Given the description of an element on the screen output the (x, y) to click on. 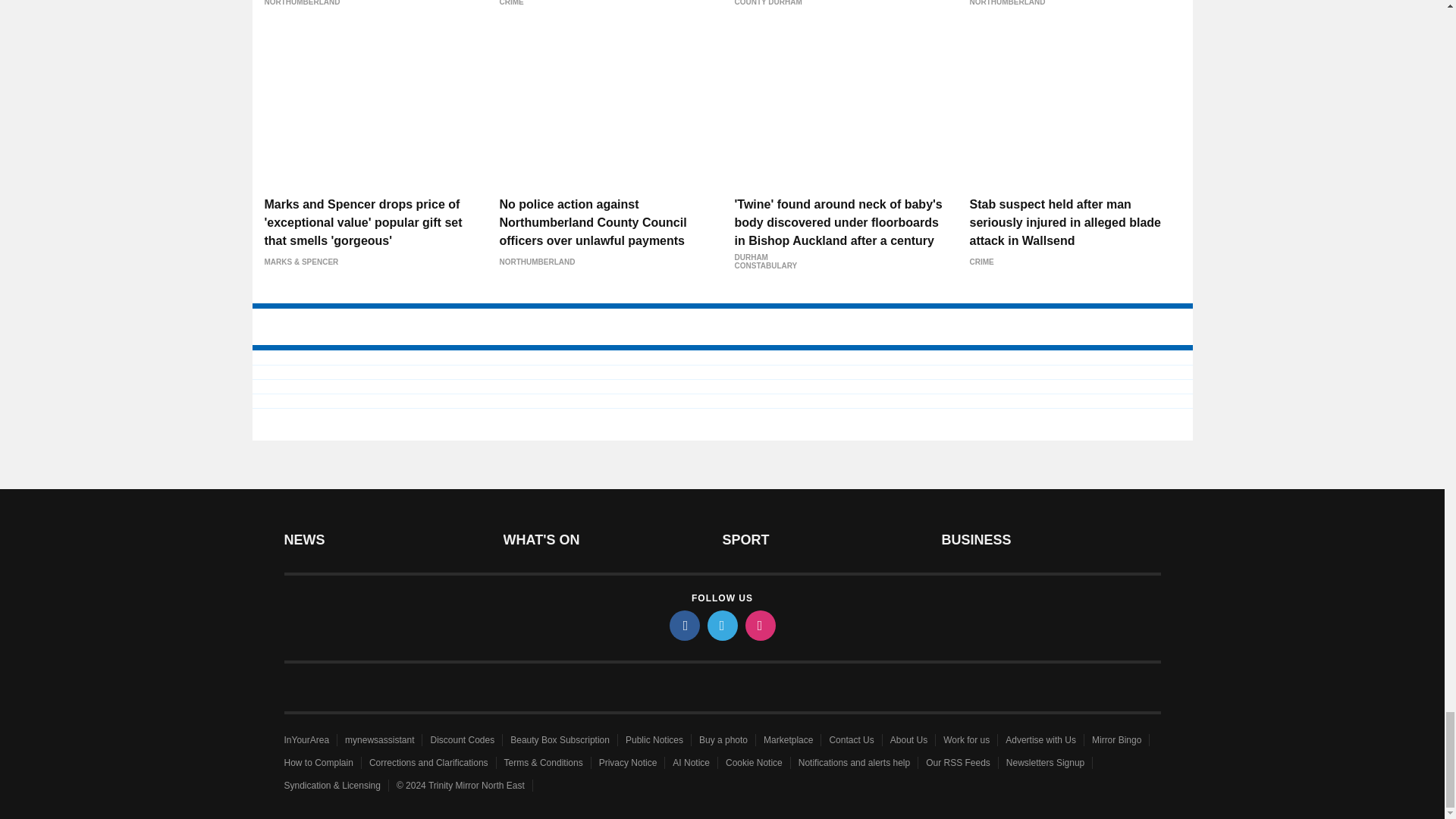
instagram (759, 625)
facebook (683, 625)
twitter (721, 625)
